Given the description of an element on the screen output the (x, y) to click on. 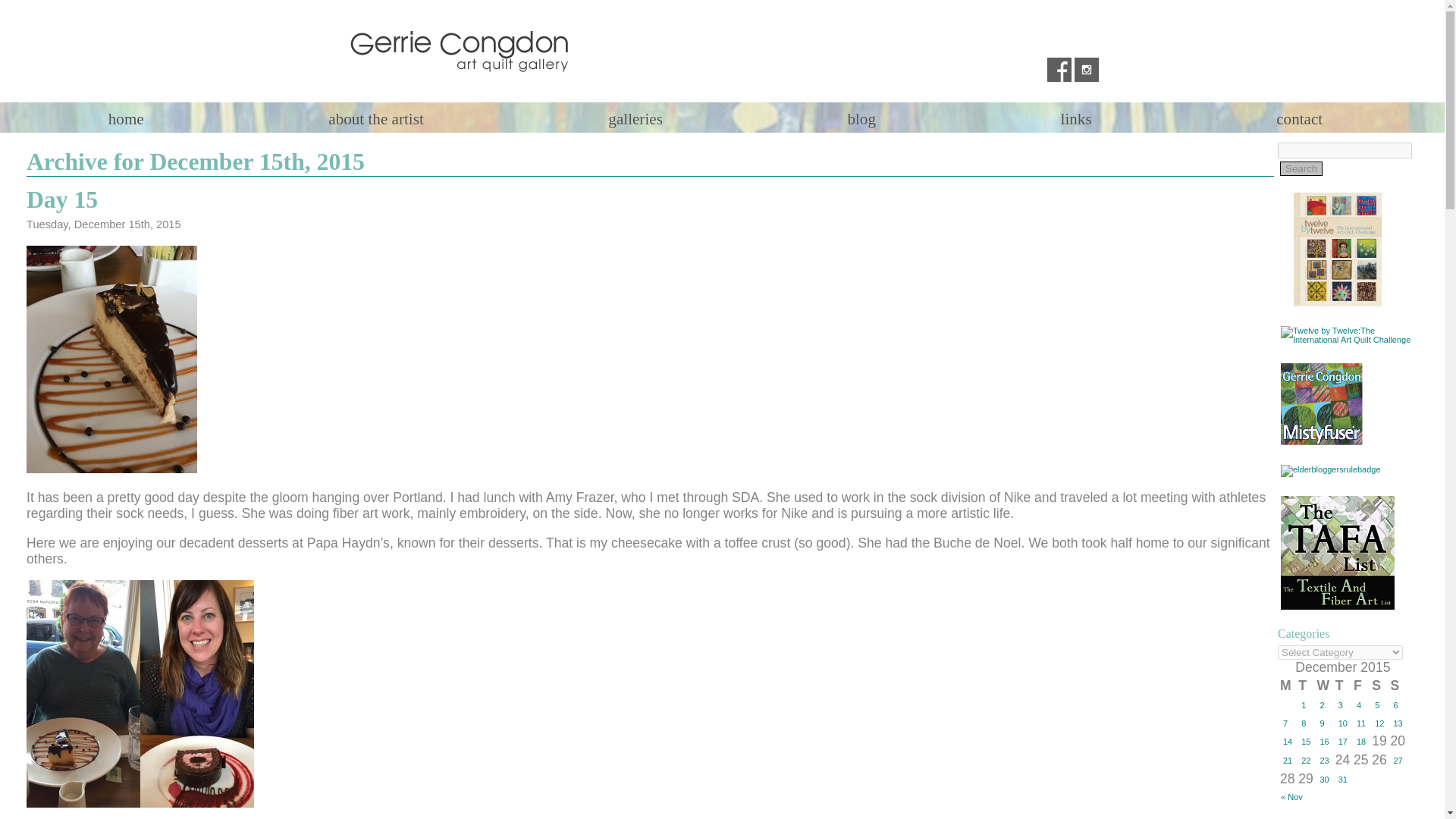
5 (1379, 704)
7 (1287, 722)
about the artist (375, 118)
2 (1324, 704)
9 (1324, 722)
3Layers-GerrieCongdon (1321, 404)
3 (1343, 704)
Search (1300, 168)
15 (1305, 740)
16 (1324, 740)
12 (1379, 722)
8 (1305, 722)
Saturday (1379, 685)
10 (1343, 722)
Sunday (1397, 685)
